Given the description of an element on the screen output the (x, y) to click on. 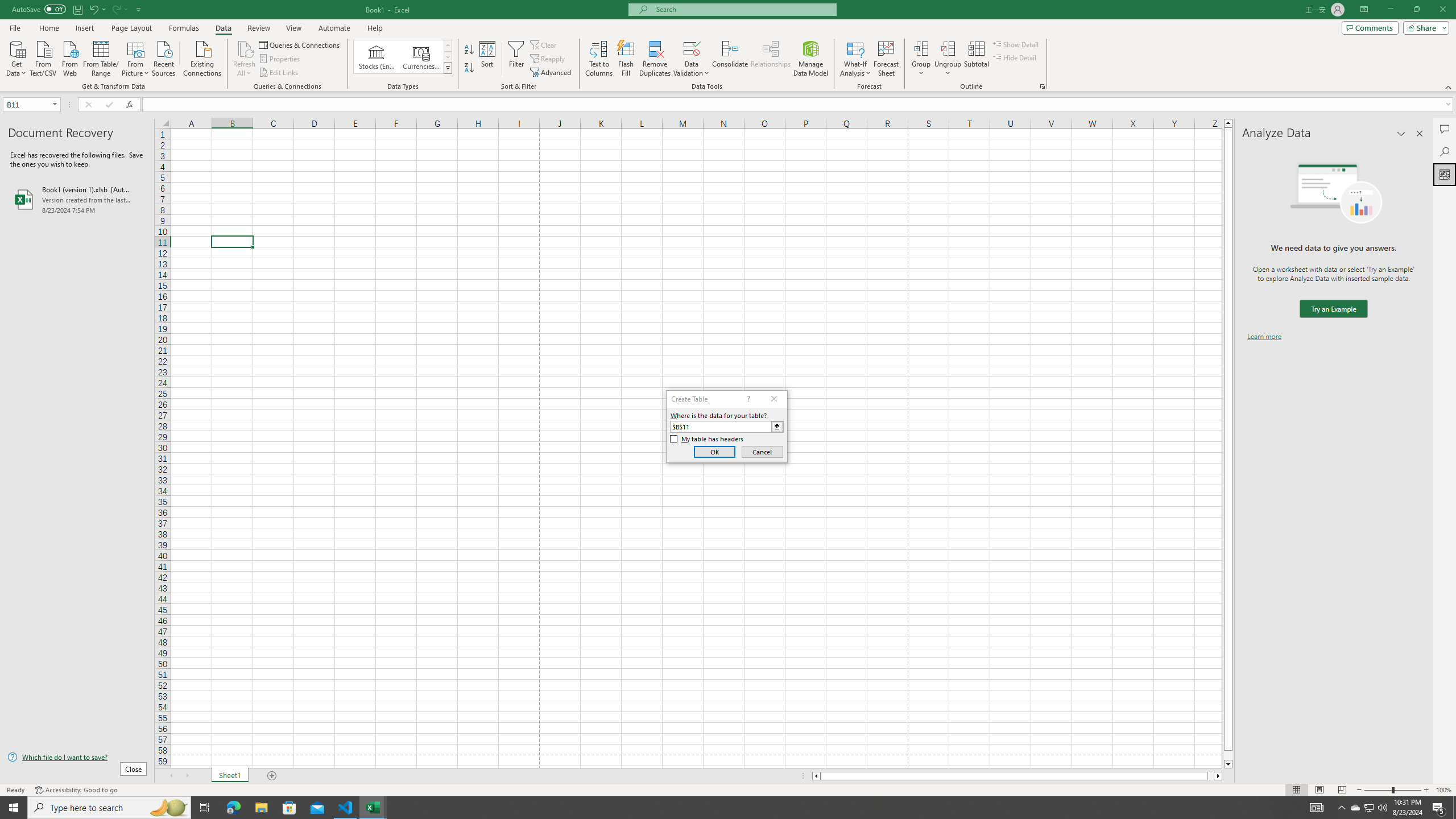
Relationships (770, 58)
